Given the description of an element on the screen output the (x, y) to click on. 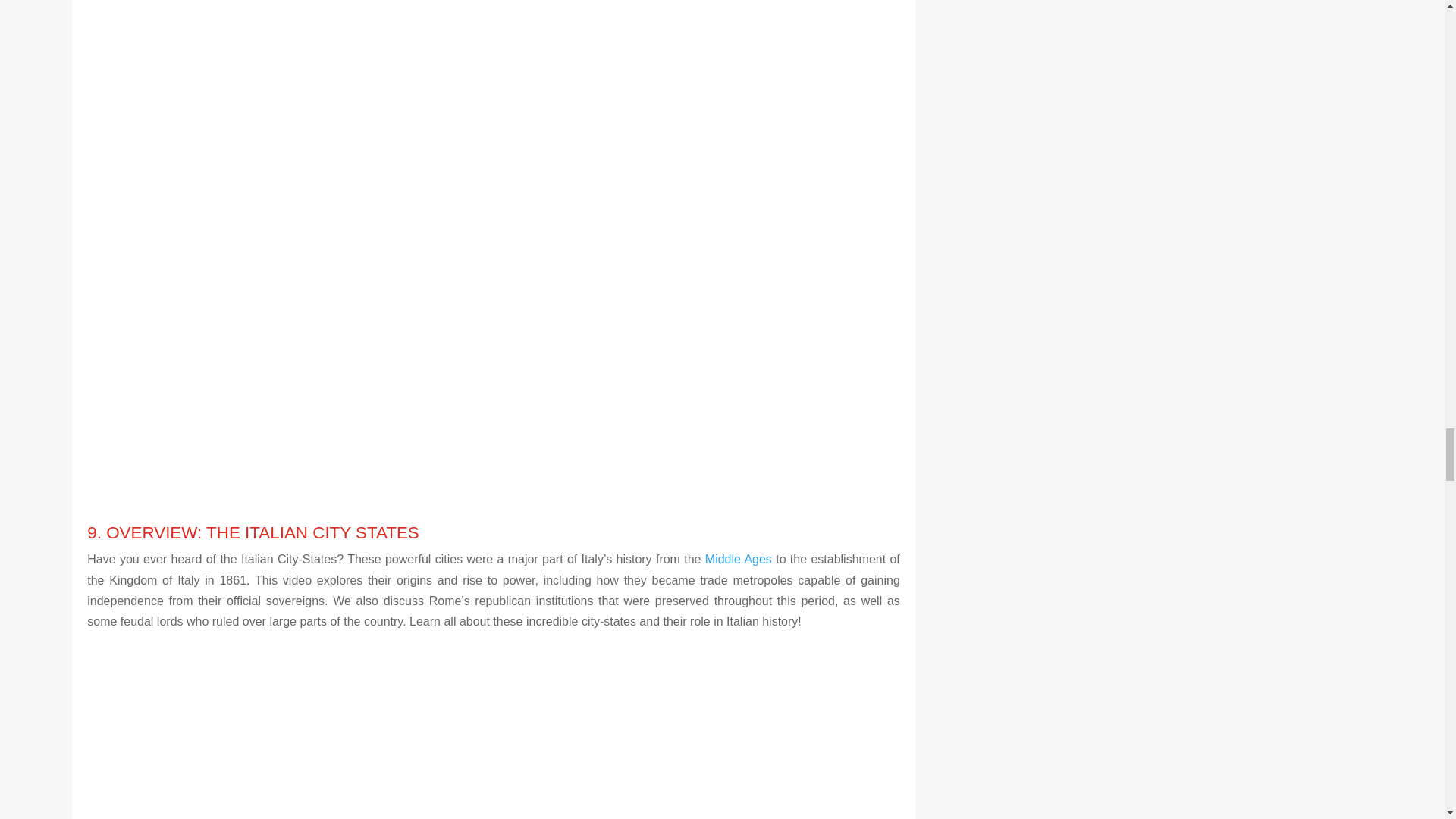
Middle Ages (737, 558)
